Given the description of an element on the screen output the (x, y) to click on. 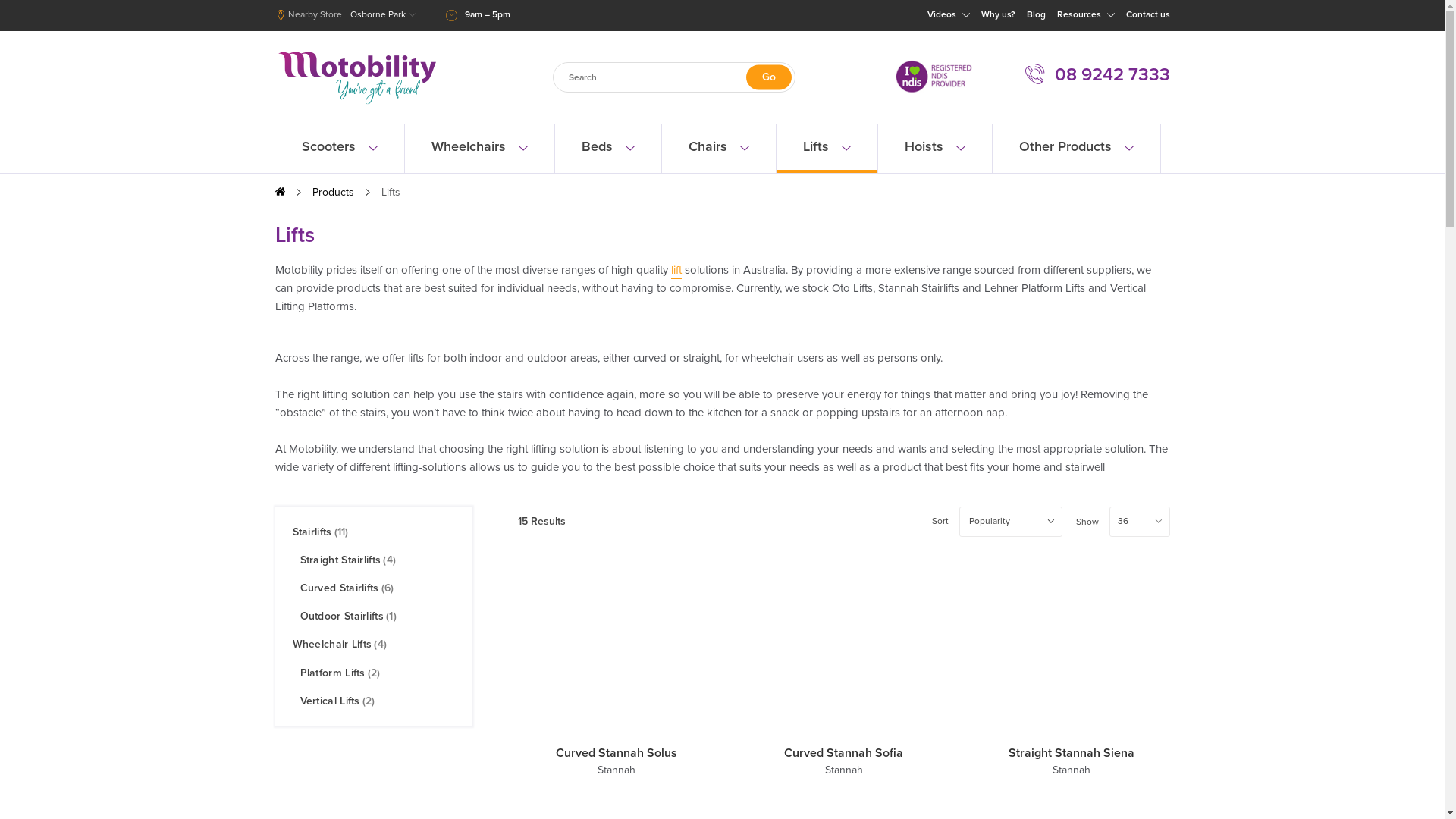
Motobility Element type: hover (356, 103)
White Down Arrow Element type: hover (1110, 14)
Down Arrow Element type: hover (628, 175)
Contact us Element type: text (1147, 15)
Blog Element type: text (1035, 15)
Home Element type: hover (279, 191)
clock Element type: hover (451, 15)
Motobility Element type: hover (279, 192)
Other Products Element type: text (1075, 175)
Lifts Element type: text (826, 175)
Beds Element type: text (608, 175)
Scooters Element type: text (338, 175)
New Logo Element type: hover (356, 77)
Videos Element type: hover (965, 14)
Resources Element type: text (1085, 15)
Products Element type: text (333, 219)
Down Arrow Element type: hover (522, 175)
Down Arrow Element type: hover (372, 175)
08 9242 7333 Element type: text (1097, 74)
Chairs Element type: text (718, 175)
Down Arrow Element type: hover (845, 147)
Down Arrow Element type: hover (959, 147)
Hoists Element type: text (934, 175)
Videos Element type: text (947, 15)
lift Element type: text (675, 298)
Why us? Element type: text (998, 15)
Go Element type: text (768, 77)
Down Arrow Element type: hover (744, 147)
Wheelchairs Element type: text (479, 175)
Phone Element type: hover (1034, 73)
Nearby Store Osborne Park Element type: text (344, 15)
Down Arrow Element type: hover (1127, 147)
REGISTERED NDIS PROVIDER Element type: hover (934, 97)
